Given the description of an element on the screen output the (x, y) to click on. 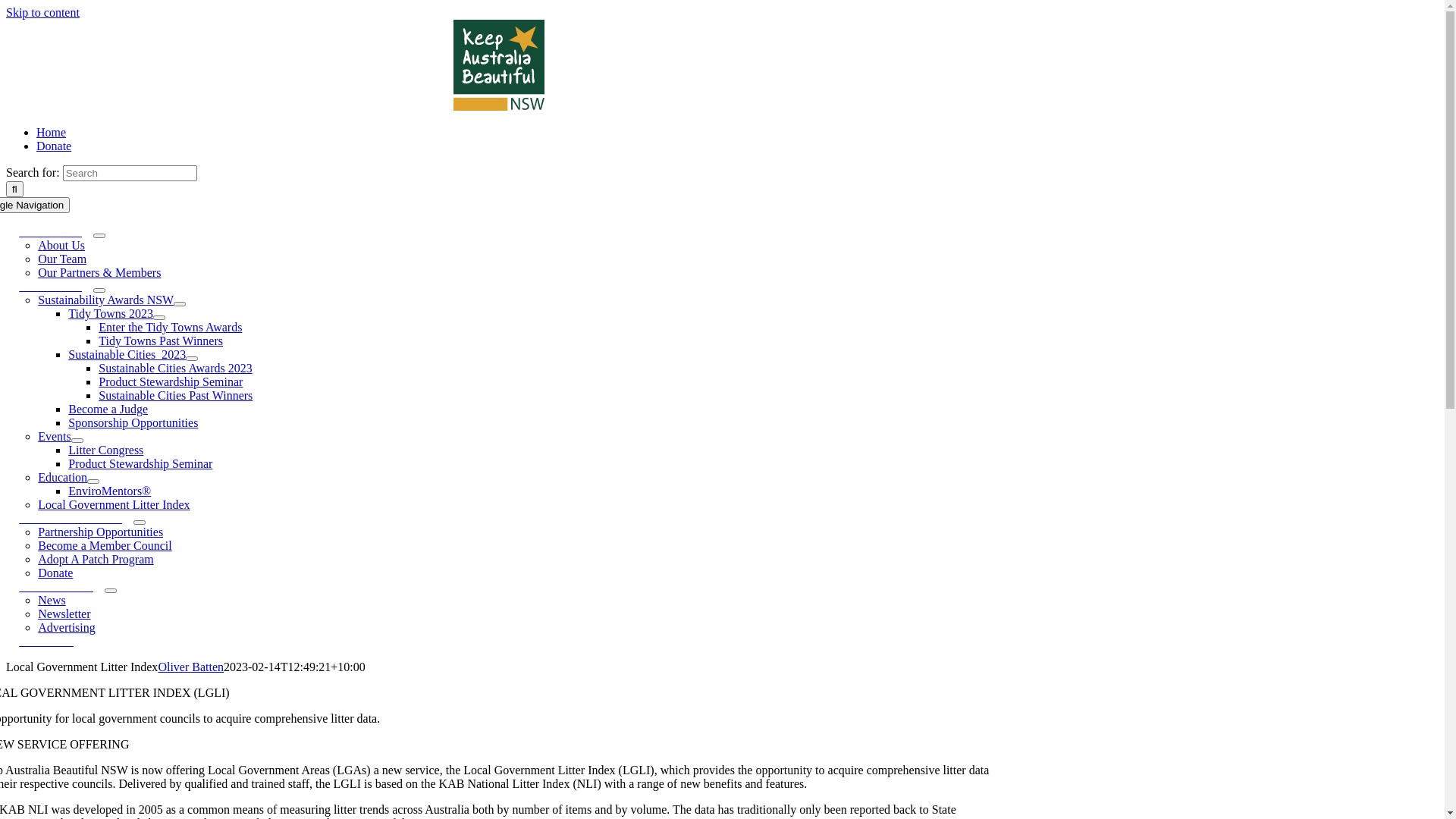
Our Team Element type: text (61, 258)
Donate Element type: text (53, 145)
Partnership Opportunities Element type: text (100, 531)
Sustainability Awards NSW Element type: text (105, 299)
Contact Us Element type: text (45, 640)
Tidy Towns 2023 Element type: text (110, 313)
What We Do Element type: text (50, 285)
Home Element type: text (50, 131)
Newsletter Element type: text (63, 613)
Sustainable Cities Awards 2023 Element type: text (175, 367)
Litter Congress Element type: text (105, 449)
Sustainable Cities_2023 Element type: text (126, 354)
Tidy Towns Past Winners Element type: text (160, 340)
Education Element type: text (62, 476)
Advertising Element type: text (66, 627)
Sponsorship Opportunities Element type: text (132, 422)
Oliver Batten Element type: text (190, 666)
Product Stewardship Seminar Element type: text (170, 381)
Become a Member Council Element type: text (104, 545)
Become a Judge Element type: text (107, 408)
Our Partners & Members Element type: text (98, 272)
News Element type: text (51, 599)
About Us Element type: text (60, 244)
Enter the Tidy Towns Awards Element type: text (169, 326)
Product Stewardship Seminar Element type: text (140, 463)
Sustainable Cities Past Winners Element type: text (175, 395)
Adopt A Patch Program Element type: text (95, 558)
Local Government Litter Index Element type: text (113, 504)
Donate Element type: text (54, 572)
Who We Are Element type: text (50, 231)
How to Get Involved Element type: text (70, 517)
Skip to content Element type: text (42, 12)
News & Media Element type: text (55, 586)
Events Element type: text (54, 435)
